Given the description of an element on the screen output the (x, y) to click on. 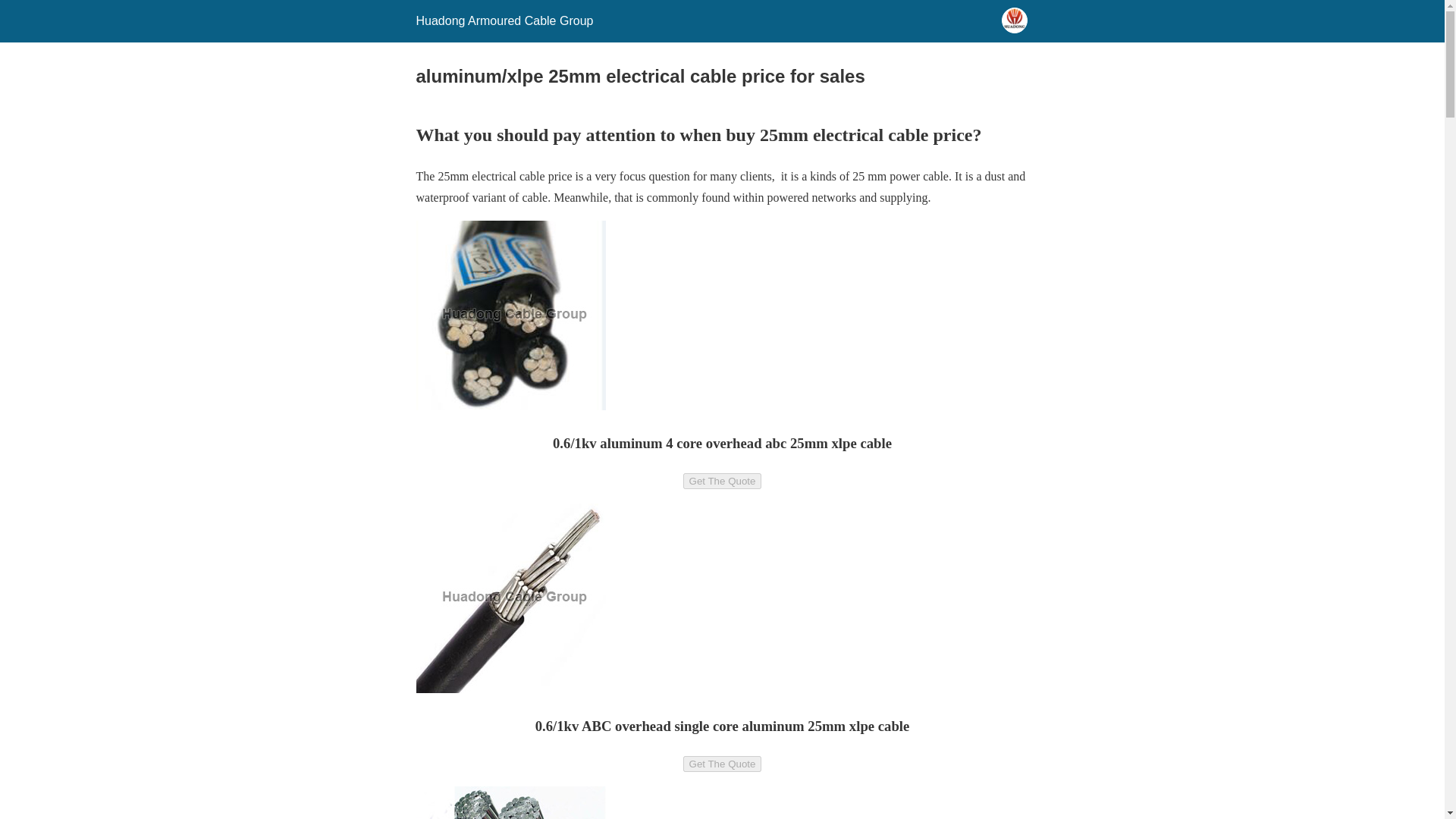
Huadong Armoured Cable Group (503, 20)
Get The Quote (721, 763)
Get The Quote (721, 480)
